Given the description of an element on the screen output the (x, y) to click on. 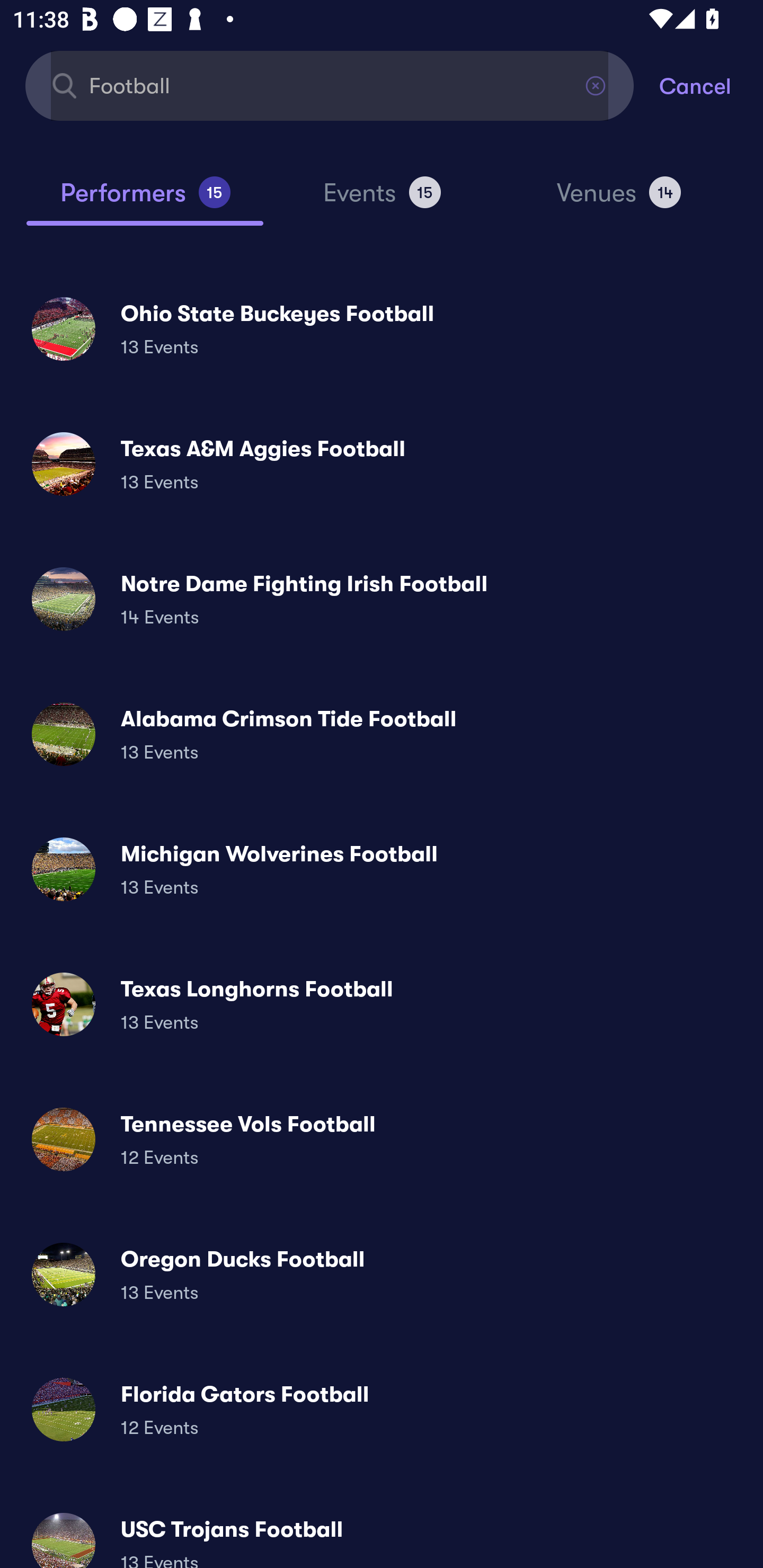
Football Find (329, 85)
Football Find (329, 85)
Cancel (711, 85)
Performers 15 (144, 200)
Events 15 (381, 200)
Venues 14 (618, 200)
Ohio State Buckeyes Football 13 Events (381, 328)
Texas A&M Aggies Football 13 Events (381, 464)
Notre Dame Fighting Irish Football 14 Events (381, 598)
Alabama Crimson Tide Football 13 Events (381, 734)
Michigan Wolverines Football 13 Events (381, 869)
Texas Longhorns Football 13 Events (381, 1004)
Tennessee Vols Football 12 Events (381, 1138)
Oregon Ducks Football 13 Events (381, 1273)
Florida Gators Football 12 Events (381, 1409)
USC Trojans Football 13 Events (381, 1532)
